Given the description of an element on the screen output the (x, y) to click on. 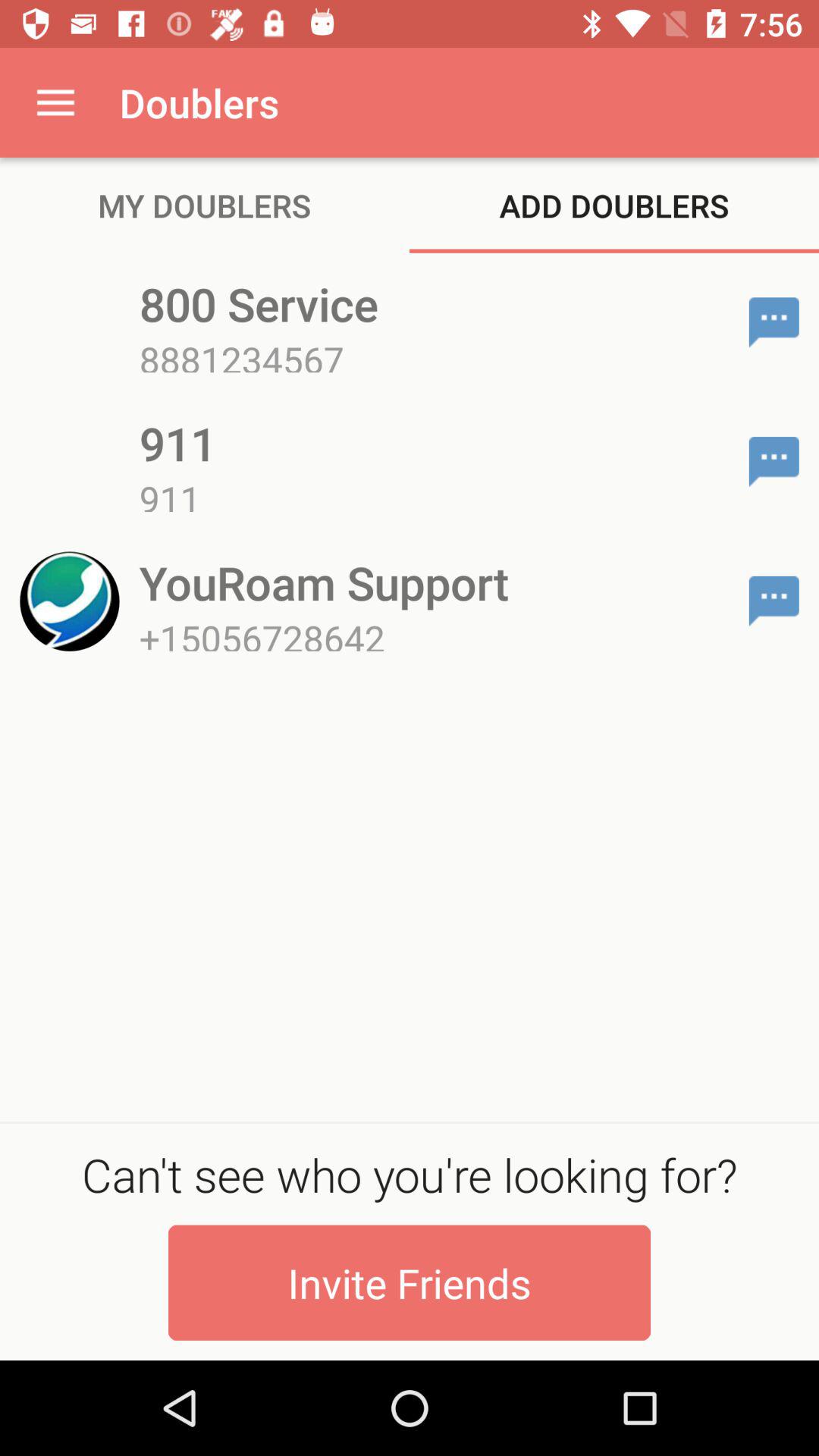
turn off the item next to 911 item (774, 461)
